Given the description of an element on the screen output the (x, y) to click on. 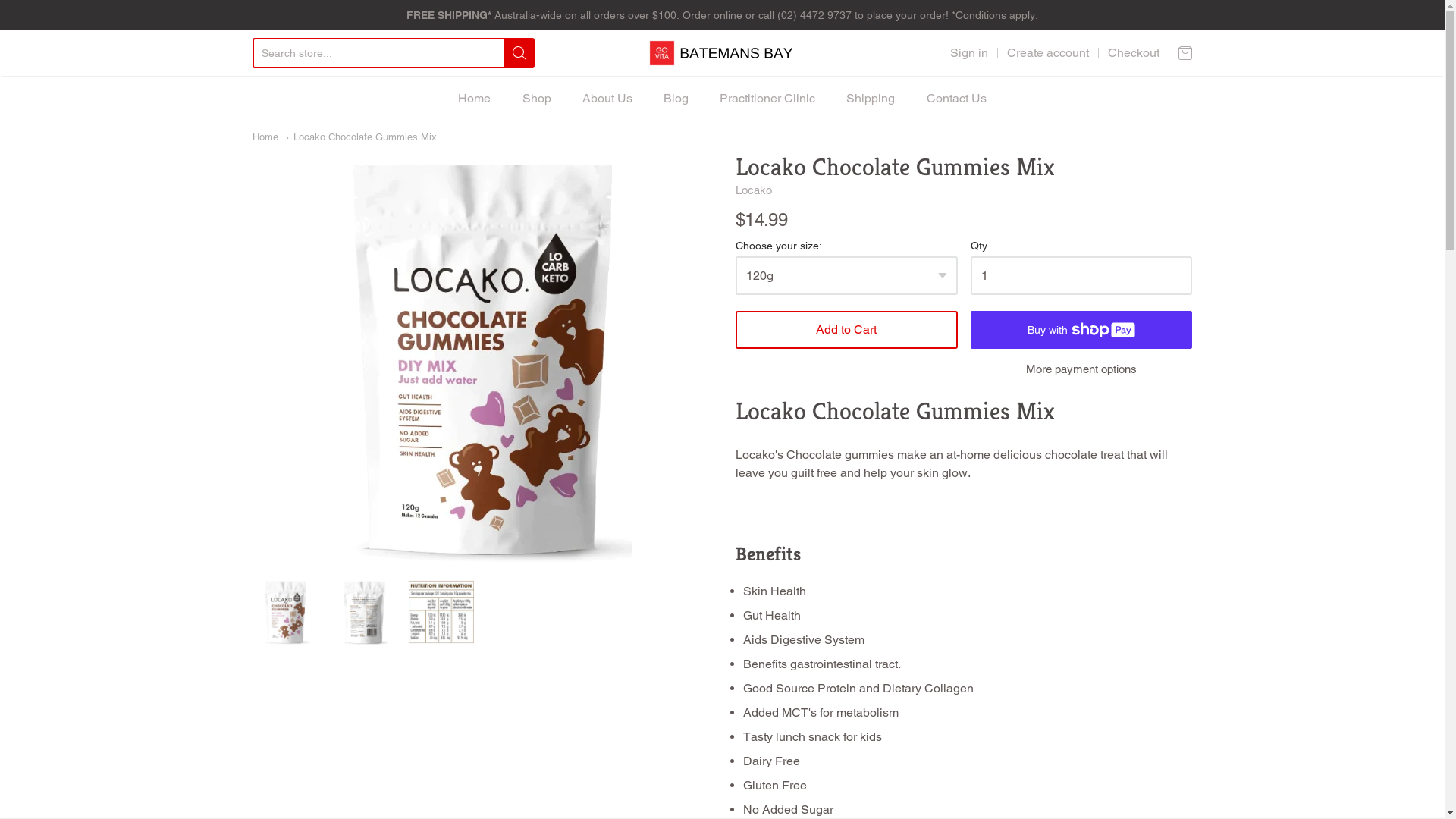
About Us Element type: text (607, 98)
Home Element type: text (474, 98)
Locako Chocolate Gummies Mix - Go Vita Batemans Bay Element type: hover (362, 611)
Sign in Element type: text (968, 52)
Contact Us Element type: text (956, 98)
Add to Cart Element type: text (846, 329)
Locako Chocolate Gummies Mix Element type: text (360, 136)
Practitioner Clinic Element type: text (767, 98)
Go Vita Batemans Bay Element type: hover (721, 52)
Locako Chocolate Gummies Mix - Go Vita Batemans Bay Element type: hover (283, 611)
Shipping Element type: text (870, 98)
Shop Element type: text (536, 98)
Locako Chocolate Gummies Mix - Go Vita Batemans Bay Element type: hover (440, 611)
Checkout Element type: text (1132, 52)
Create account Element type: text (1047, 52)
Locako Element type: text (753, 189)
Blog Element type: text (675, 98)
Locako Chocolate Gummies Mix - Go Vita Batemans Bay Element type: hover (480, 357)
More payment options Element type: text (1081, 369)
Home Element type: text (264, 136)
